Given the description of an element on the screen output the (x, y) to click on. 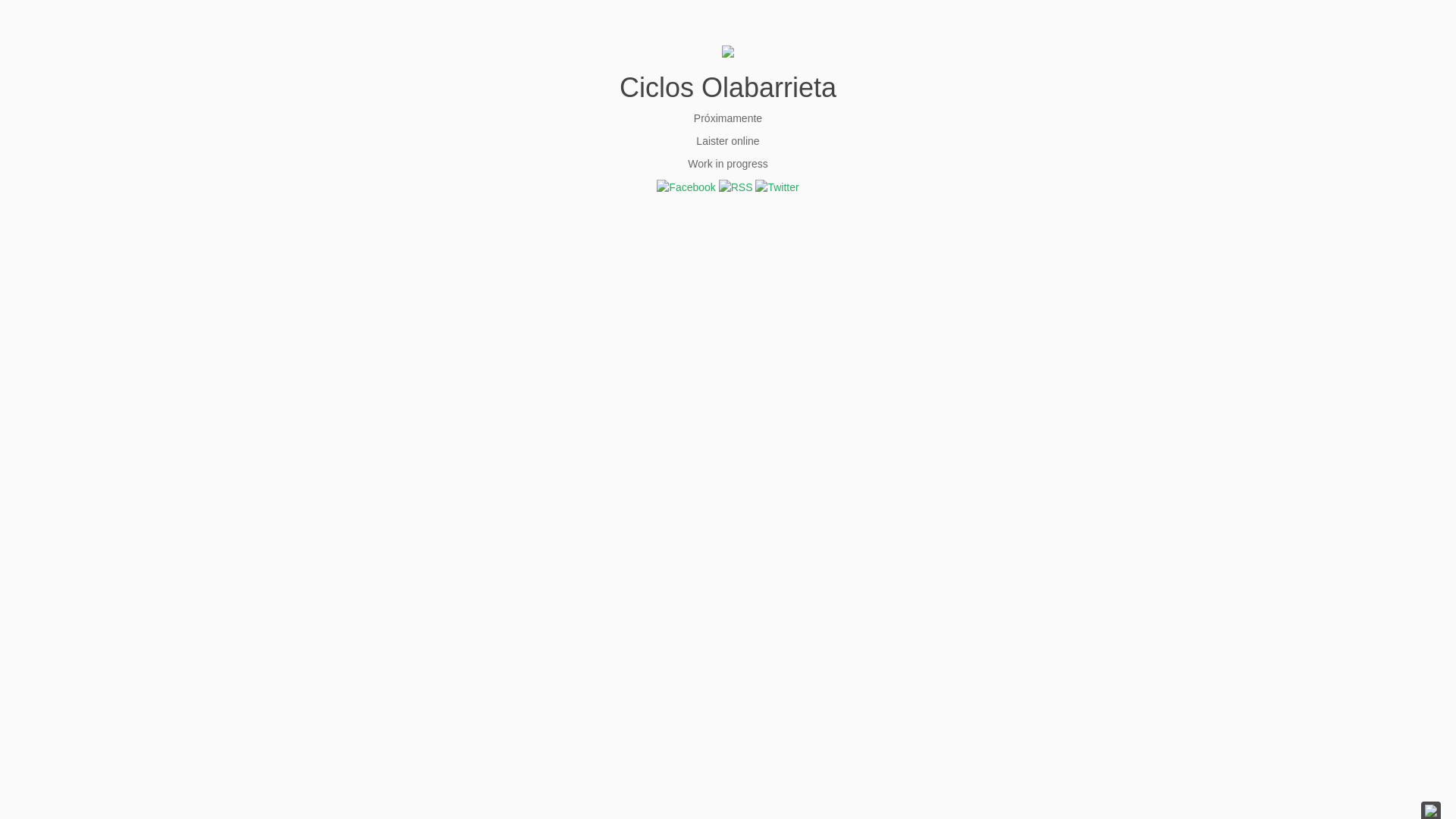
Facebook Element type: hover (685, 186)
Instagram Element type: hover (735, 186)
Twitter Element type: hover (776, 186)
